Given the description of an element on the screen output the (x, y) to click on. 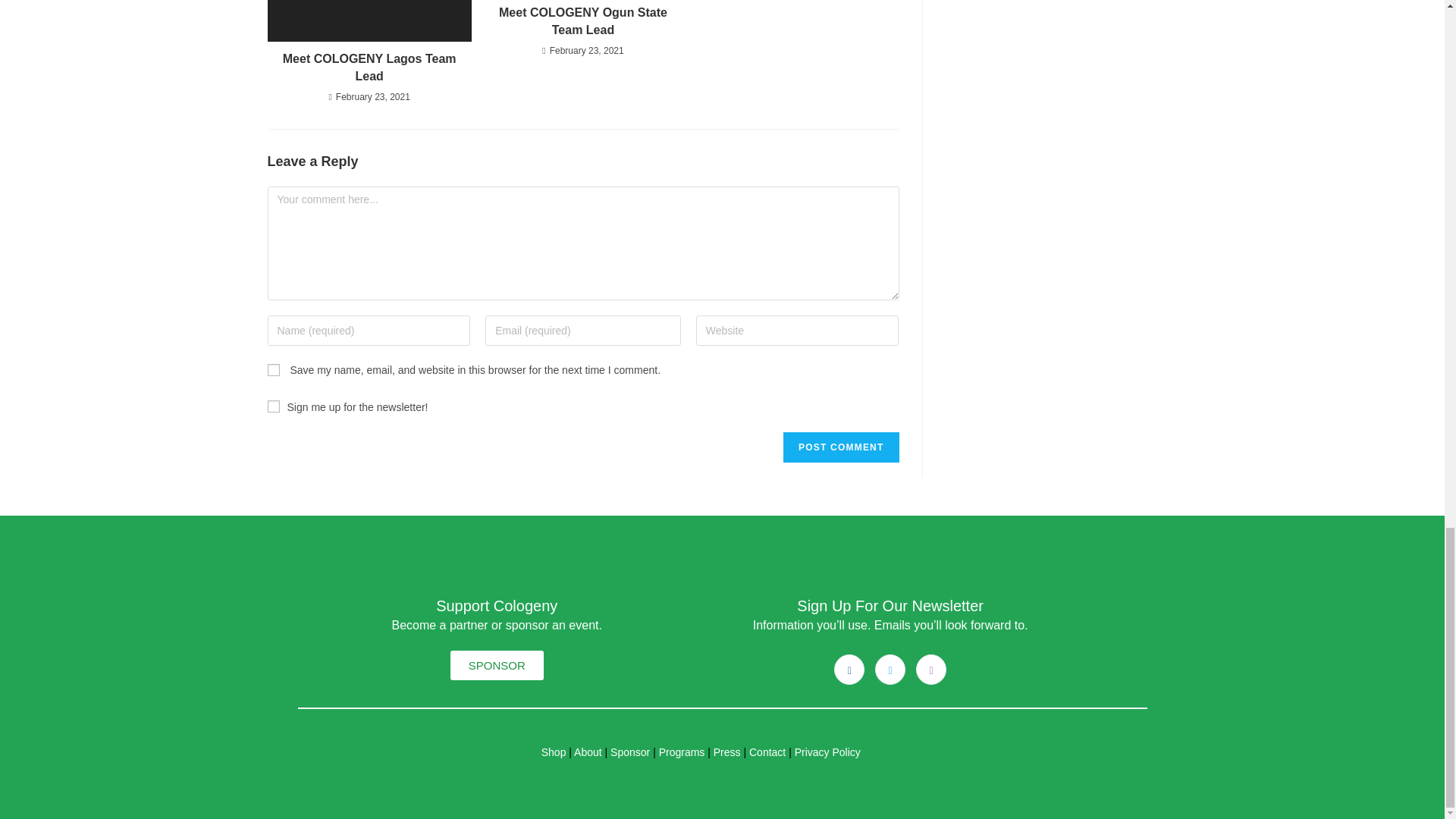
yes (272, 369)
1 (272, 406)
Post Comment (840, 447)
